Given the description of an element on the screen output the (x, y) to click on. 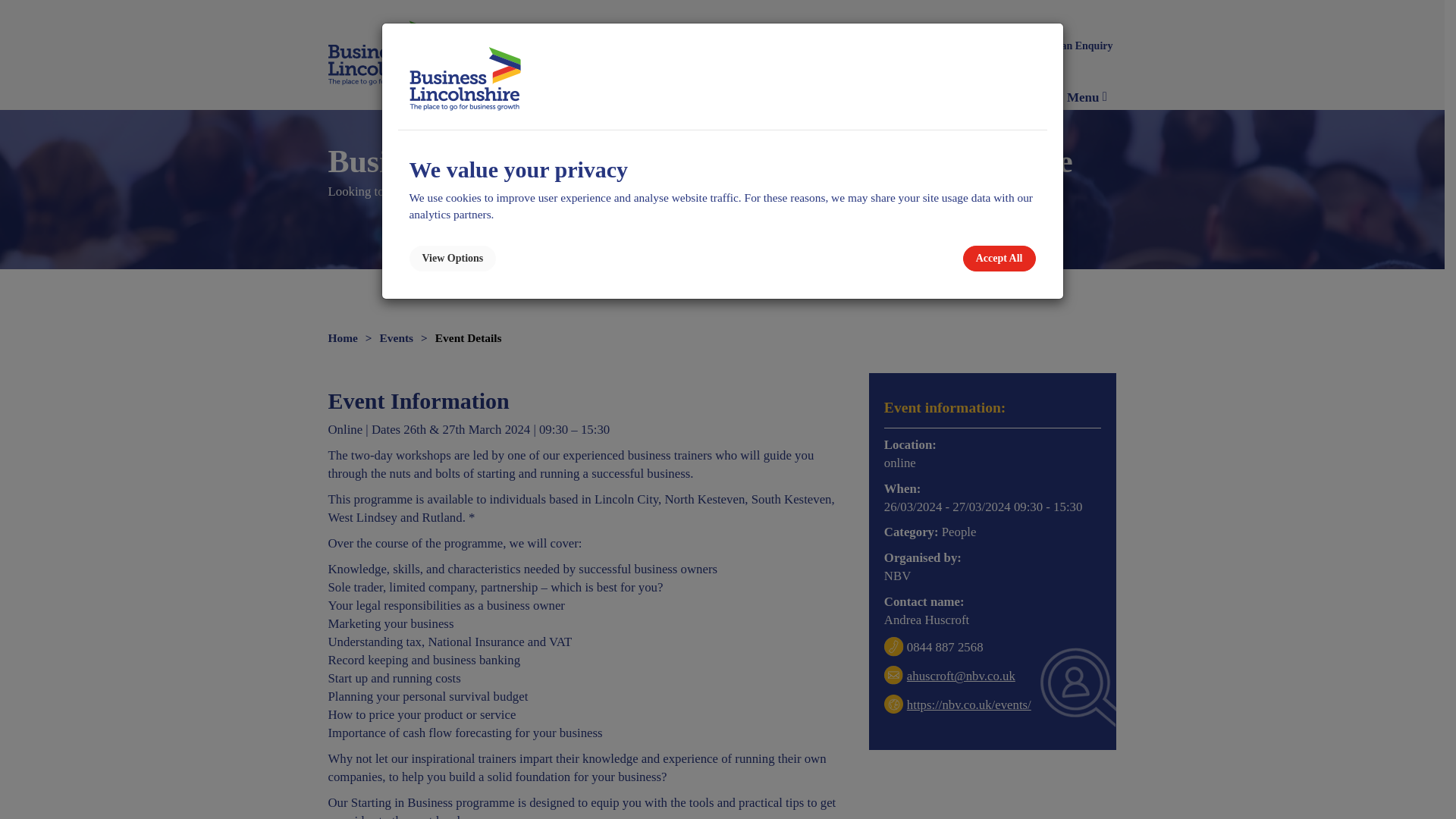
Make an Enquiry (1072, 45)
Navigation Menu (1087, 97)
Business Lincolnshire (387, 54)
Search (930, 46)
Sign In (963, 45)
Register (1006, 45)
